Given the description of an element on the screen output the (x, y) to click on. 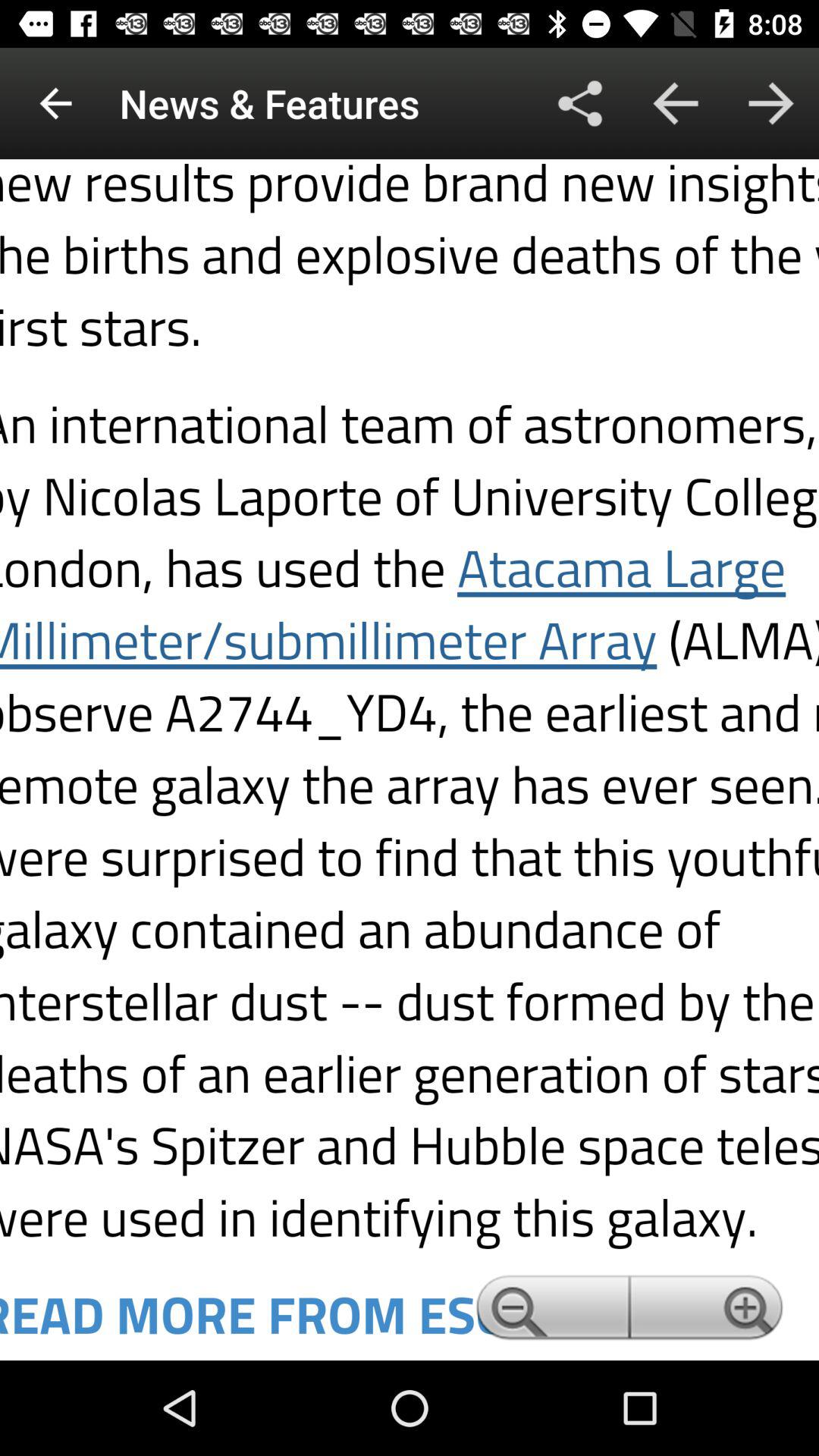
text page (409, 759)
